Given the description of an element on the screen output the (x, y) to click on. 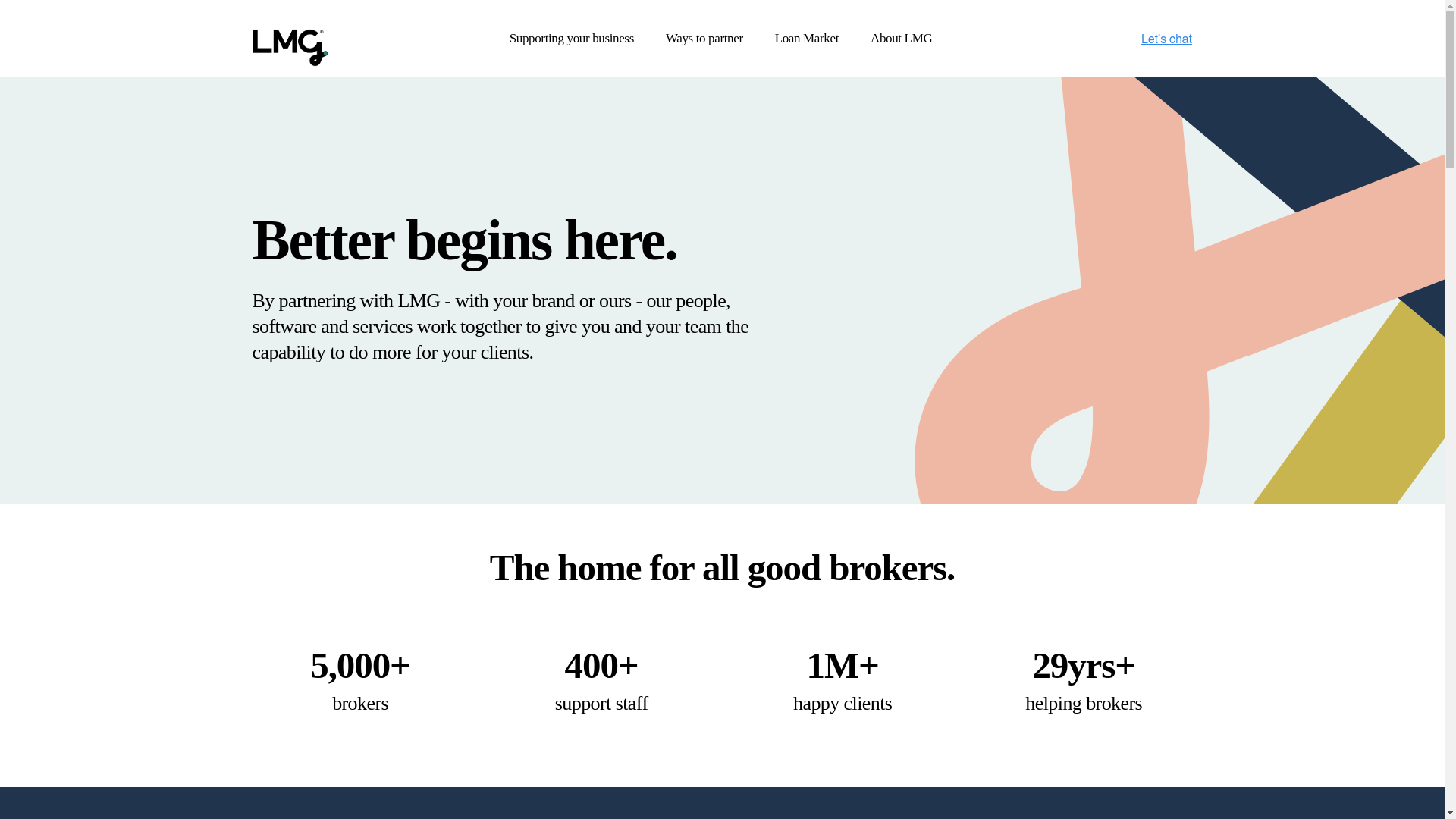
About LMG Element type: text (900, 38)
Supporting your business Element type: text (571, 38)
Ways to partner Element type: text (704, 38)
Loan Market Element type: text (806, 38)
